Given the description of an element on the screen output the (x, y) to click on. 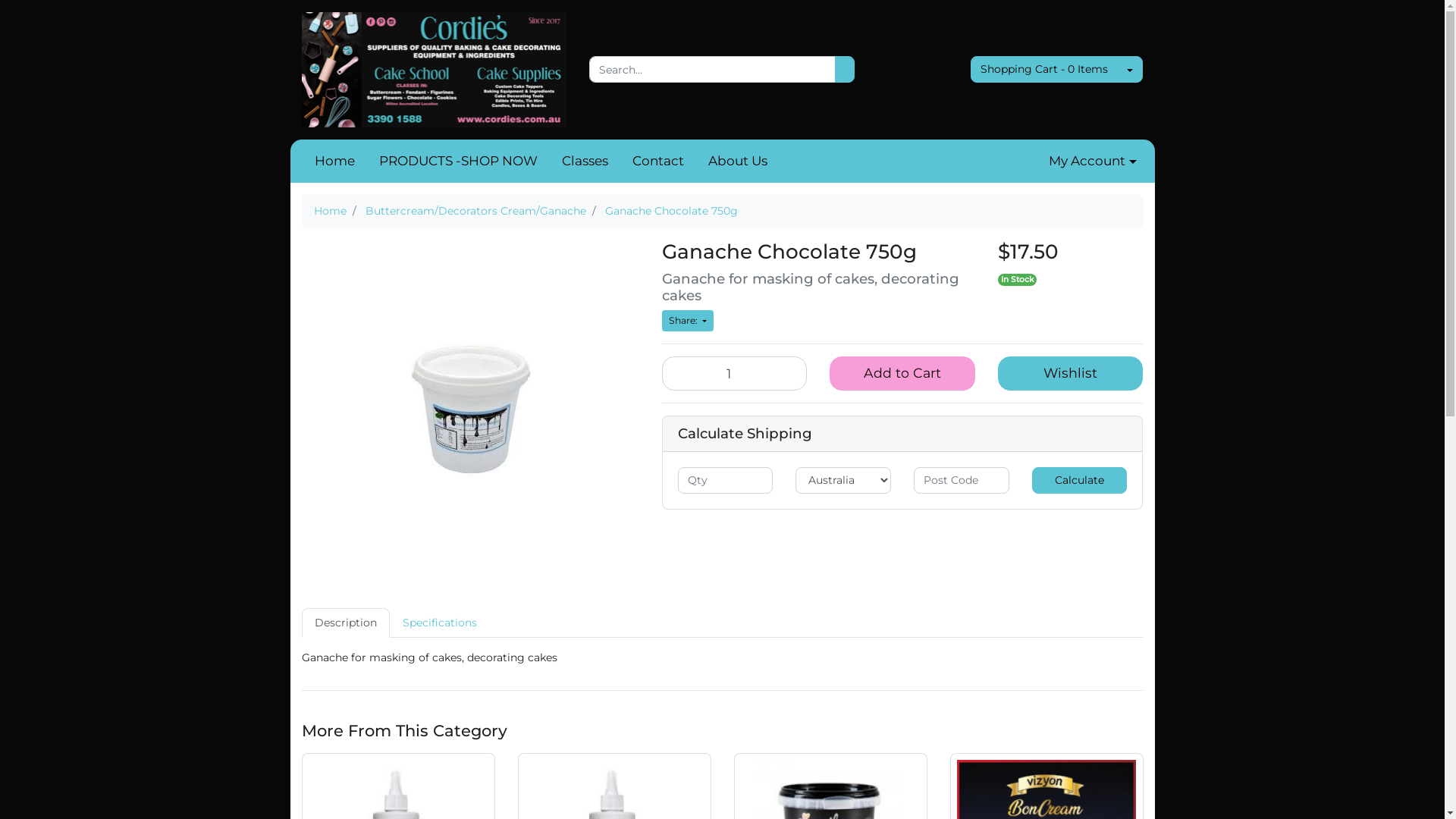
Add to Cart Element type: text (902, 372)
Home Element type: text (333, 161)
About Us Element type: text (737, 161)
Home Element type: text (329, 210)
Share: Element type: text (686, 320)
Ganache Chocolate 750g Element type: text (671, 210)
Buttercream/Decorators Cream/Ganache Element type: text (475, 210)
Shopping Cart - 0 Items Element type: text (1043, 69)
Skip to main content Element type: text (0, 0)
Contact Element type: text (658, 161)
My Account Element type: text (1092, 161)
Description Element type: text (345, 622)
Classes Element type: text (584, 161)
Wishlist Element type: text (1070, 372)
Cordie's Cake Supplies Element type: hover (434, 68)
PRODUCTS -SHOP NOW Element type: text (458, 161)
Specifications Element type: text (439, 622)
Calculate Element type: text (1079, 480)
Search Element type: text (844, 69)
